Given the description of an element on the screen output the (x, y) to click on. 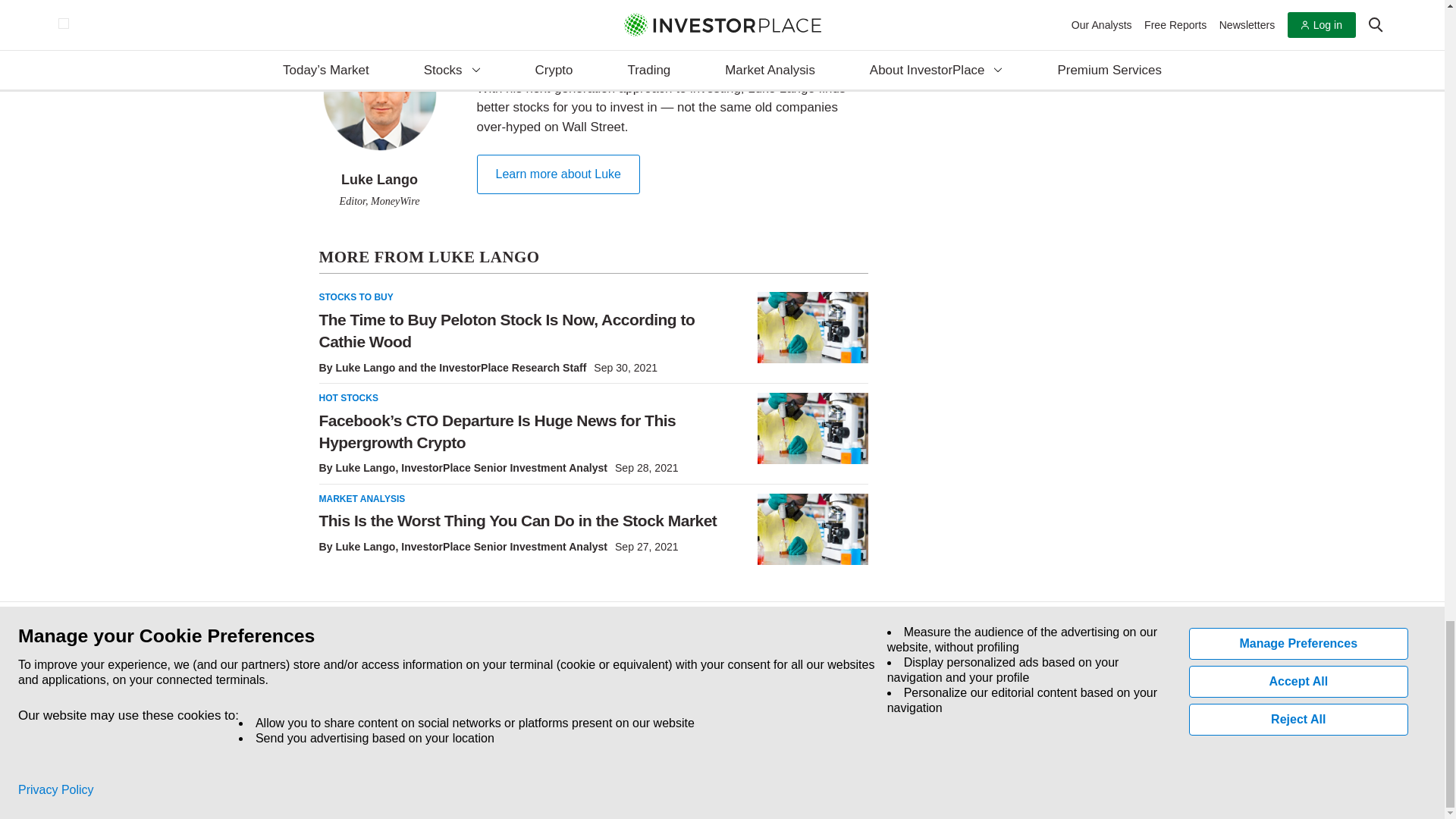
Visit our Facebook Page (319, 711)
This Is the Worst Thing You Can Do in the Stock Market (812, 529)
Visit our Twitter page (354, 711)
Subscribe to our RSS feed (389, 711)
View profile of Luke Lango (364, 546)
View profile of Luke Lango (364, 467)
